Given the description of an element on the screen output the (x, y) to click on. 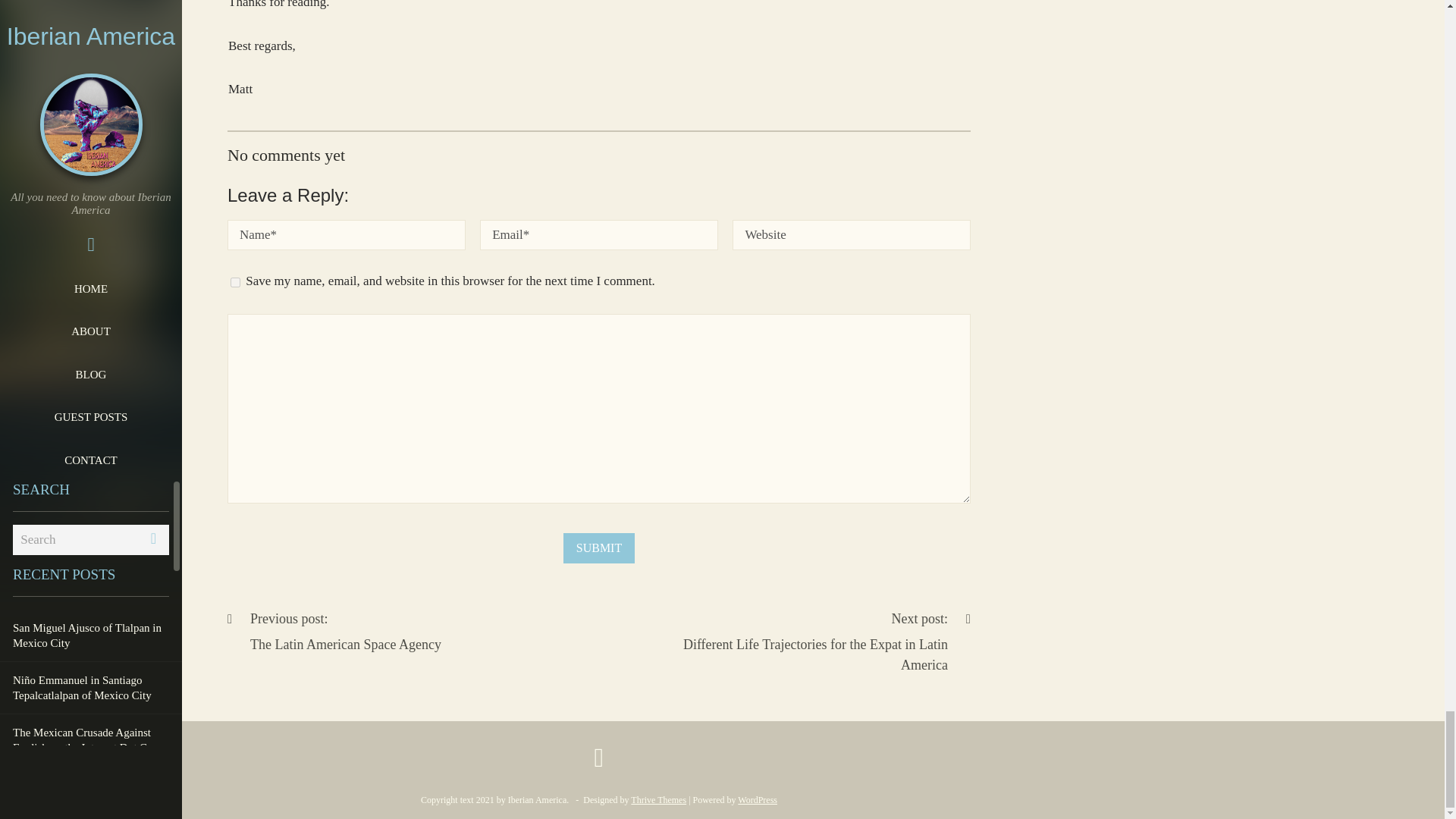
WordPress (334, 632)
SUBMIT (757, 799)
SUBMIT (598, 548)
yes (598, 548)
Thrive Themes (235, 282)
